Given the description of an element on the screen output the (x, y) to click on. 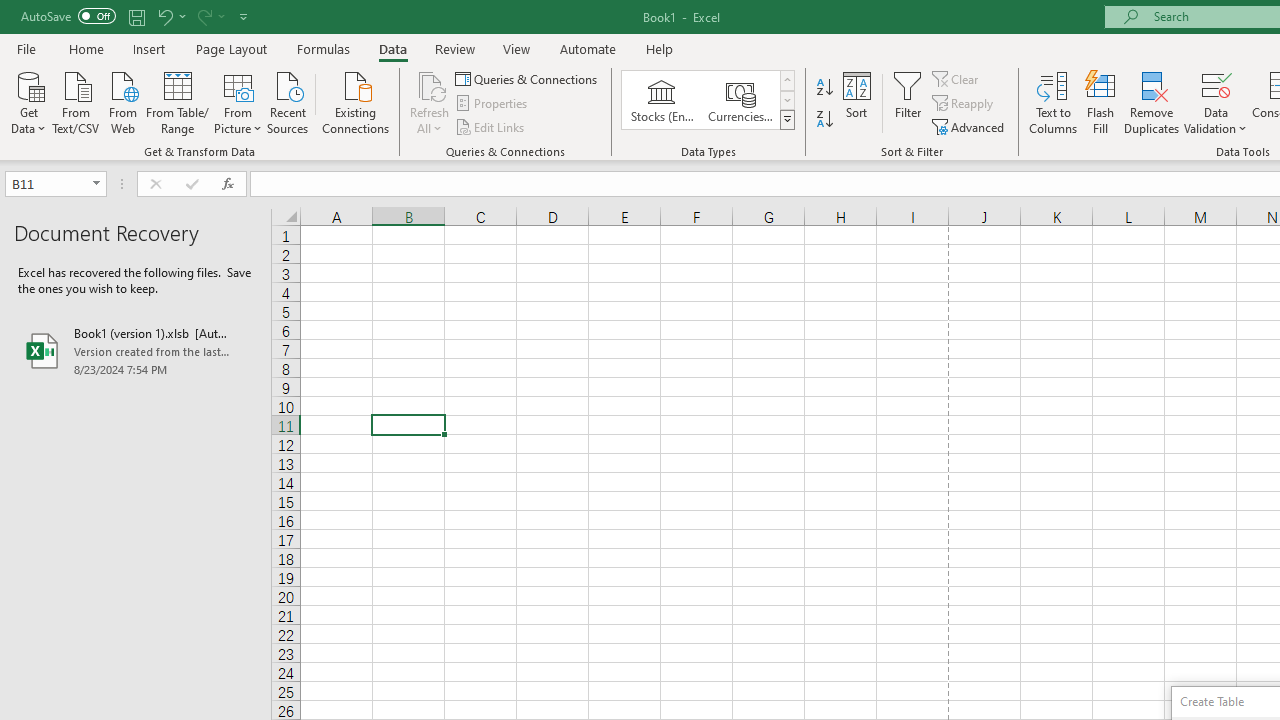
Class: NetUIImage (787, 119)
Edit Links (491, 126)
Reapply (964, 103)
Existing Connections (355, 101)
Sort A to Z (824, 87)
Data Validation... (1215, 84)
Sort Z to A (824, 119)
AutoSave (68, 16)
Get Data (28, 101)
Properties (492, 103)
Row Down (786, 100)
